Given the description of an element on the screen output the (x, y) to click on. 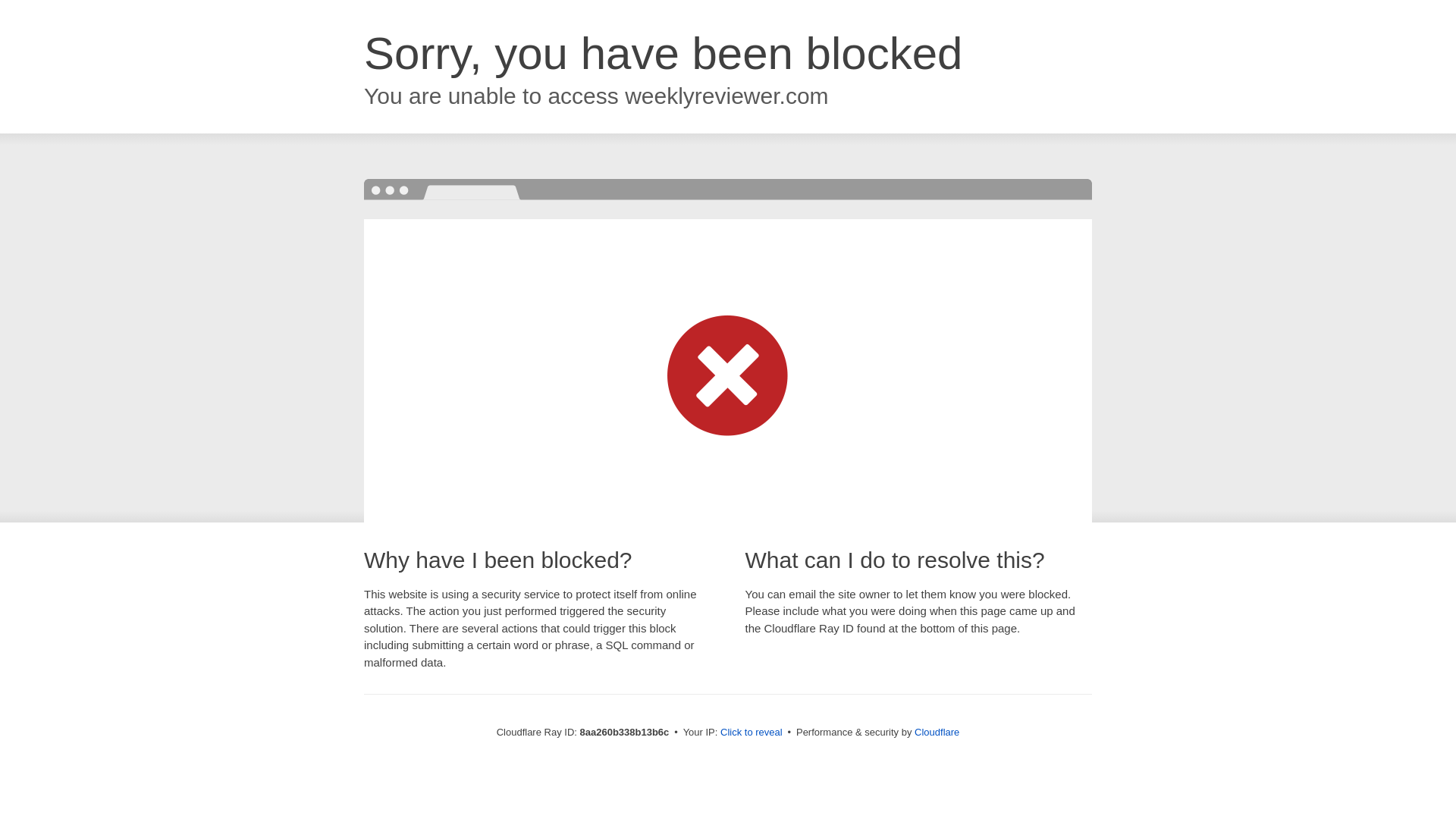
Cloudflare (936, 731)
Click to reveal (751, 732)
